Given the description of an element on the screen output the (x, y) to click on. 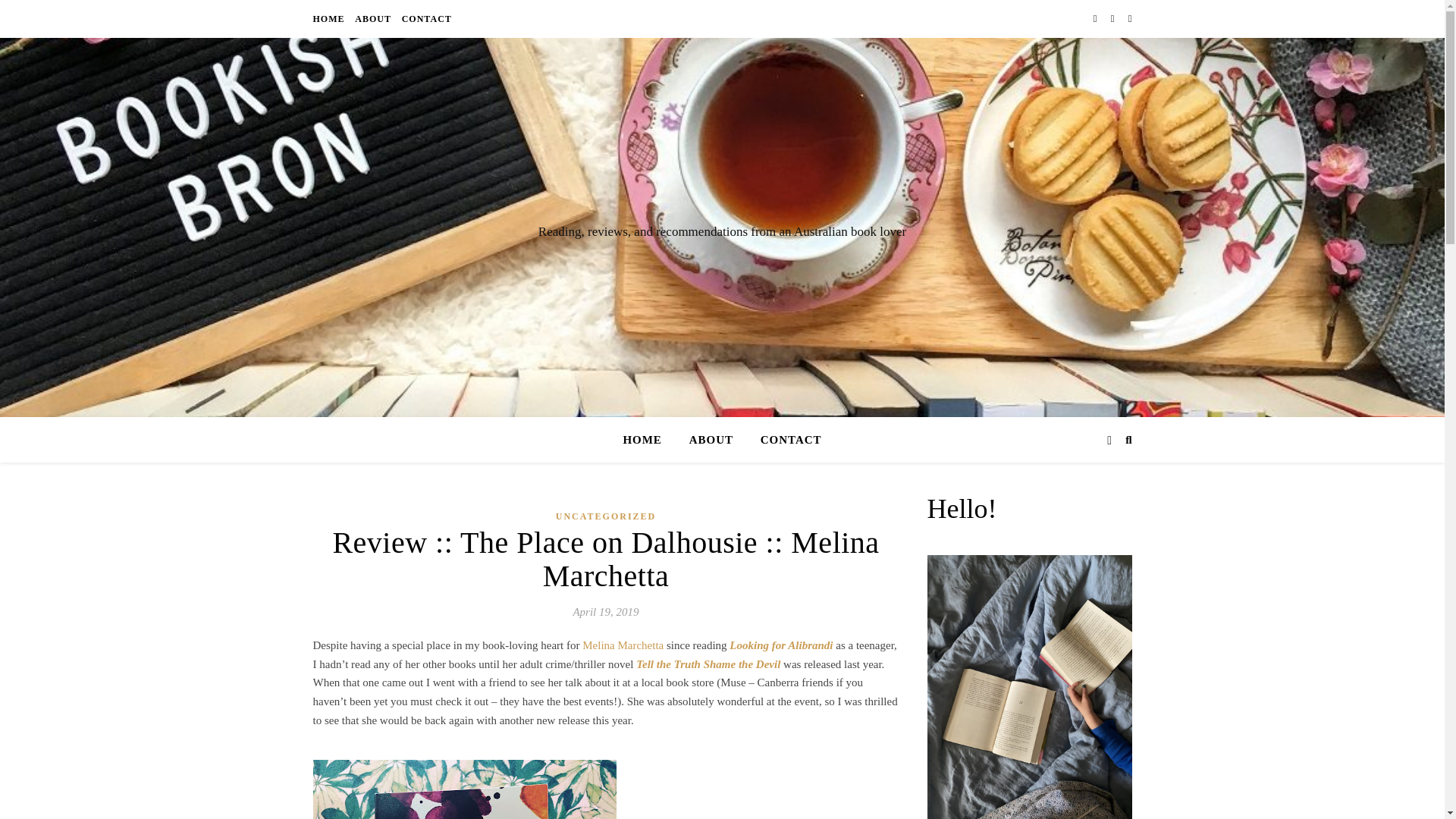
CONTACT (424, 18)
CONTACT (785, 439)
Looking for Alibrandi (780, 645)
ABOUT (372, 18)
Tell the Truth Shame the Devil (708, 664)
HOME (330, 18)
HOME (648, 439)
ABOUT (711, 439)
UNCATEGORIZED (606, 516)
Melina Marchetta (624, 645)
